Given the description of an element on the screen output the (x, y) to click on. 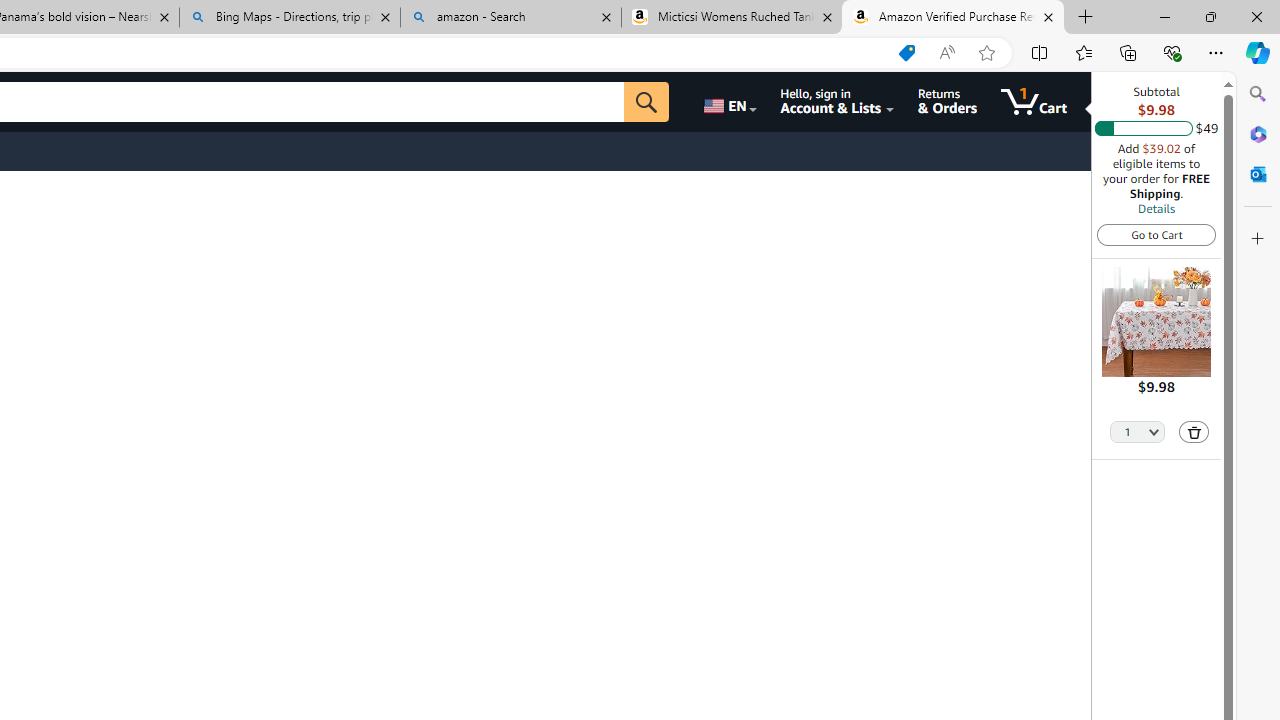
Choose a language for shopping. (728, 101)
